Given the description of an element on the screen output the (x, y) to click on. 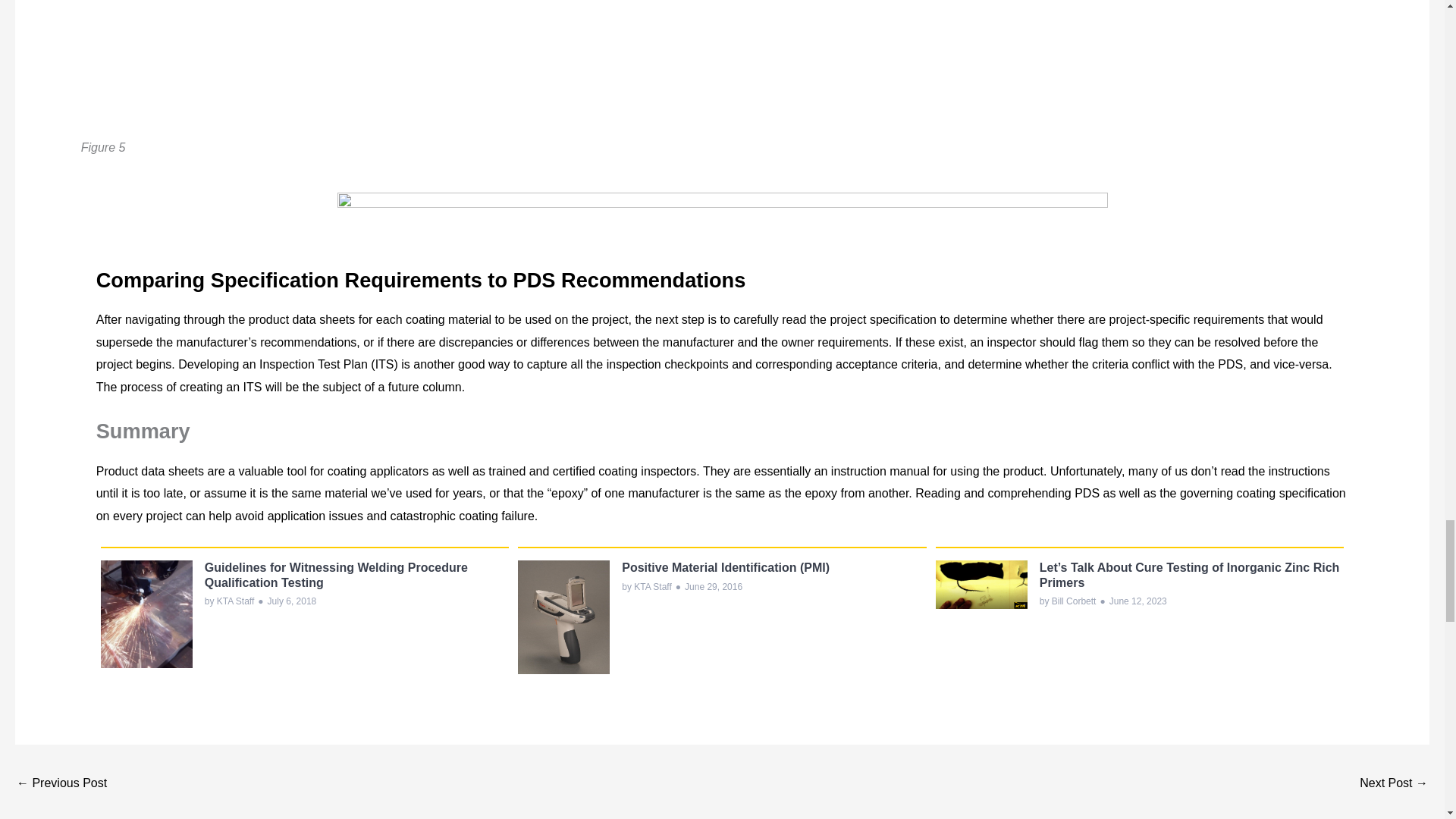
Certified Coating Inspector Forum: Volume 1 (61, 784)
